Given the description of an element on the screen output the (x, y) to click on. 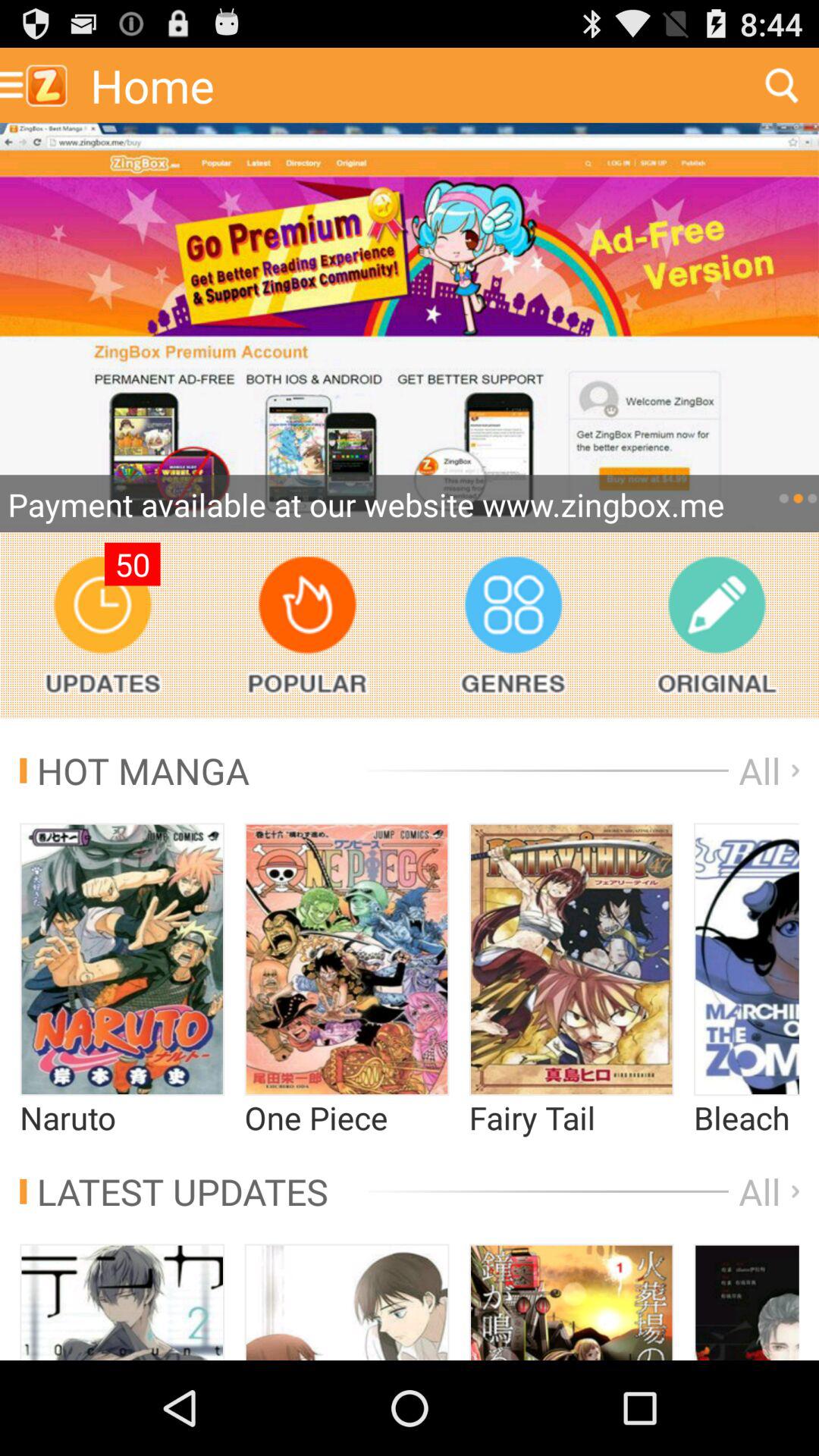
files save (716, 625)
